Given the description of an element on the screen output the (x, y) to click on. 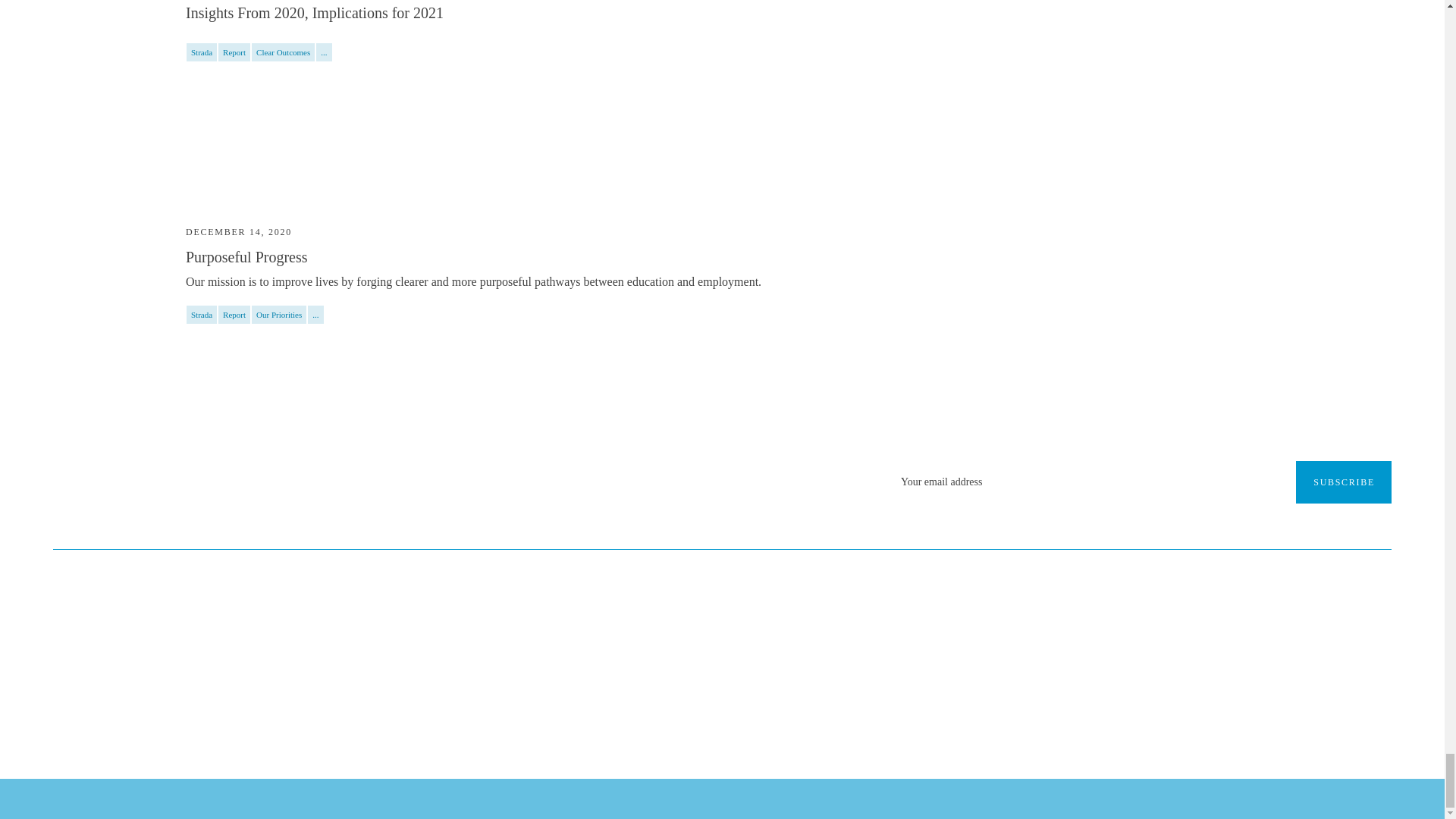
Group 11 (702, 721)
Group 12 (742, 721)
Group 13 (660, 721)
Social (659, 719)
Social (742, 719)
Subscribe (1343, 482)
Social (701, 719)
Group 2 (783, 721)
Social (783, 719)
